Given the description of an element on the screen output the (x, y) to click on. 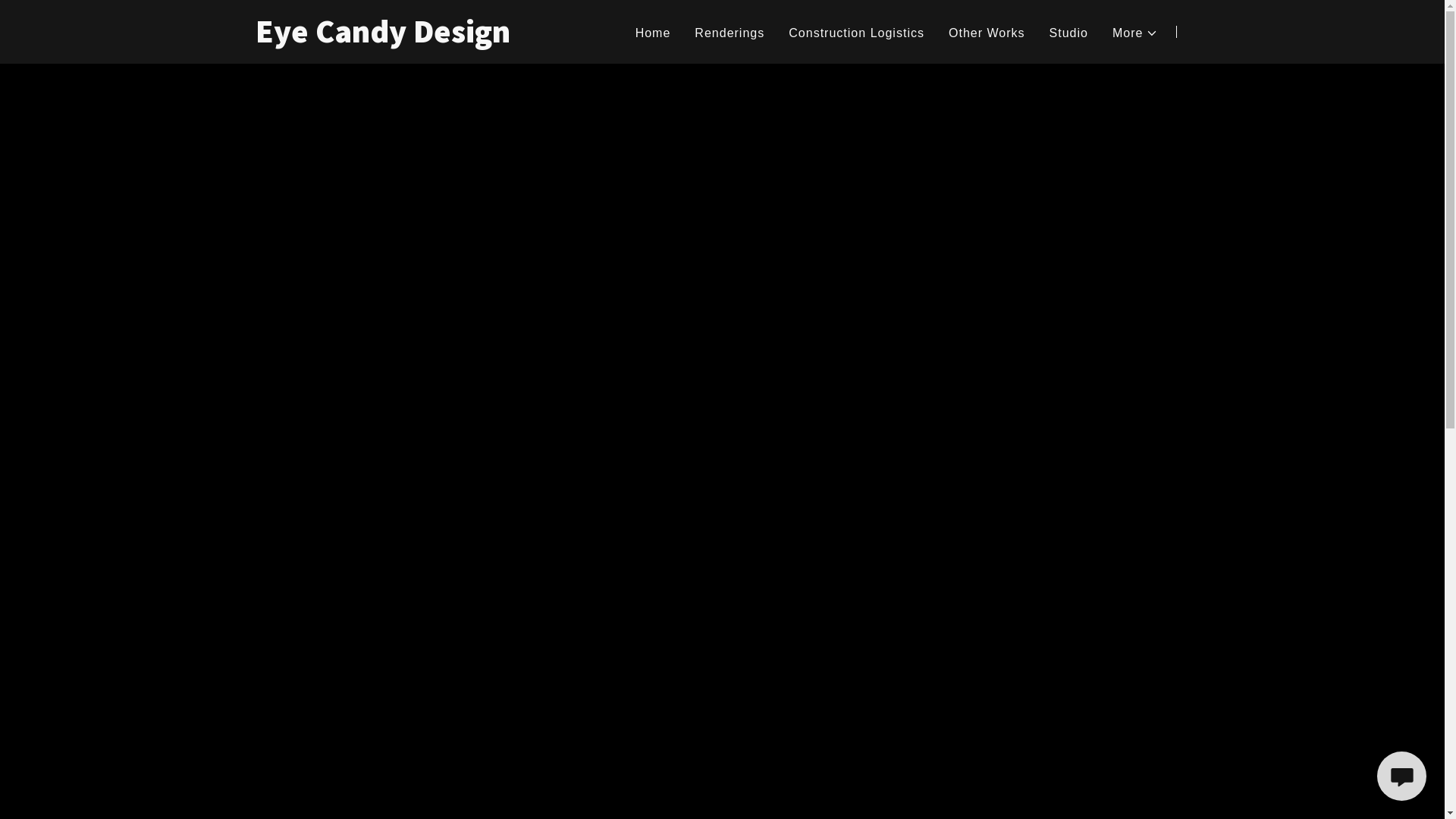
More Element type: text (1135, 33)
Home Element type: text (652, 33)
Studio Element type: text (1068, 33)
Construction Logistics Element type: text (856, 33)
Renderings Element type: text (729, 33)
Eye Candy Design Element type: text (417, 37)
Other Works Element type: text (986, 33)
